Given the description of an element on the screen output the (x, y) to click on. 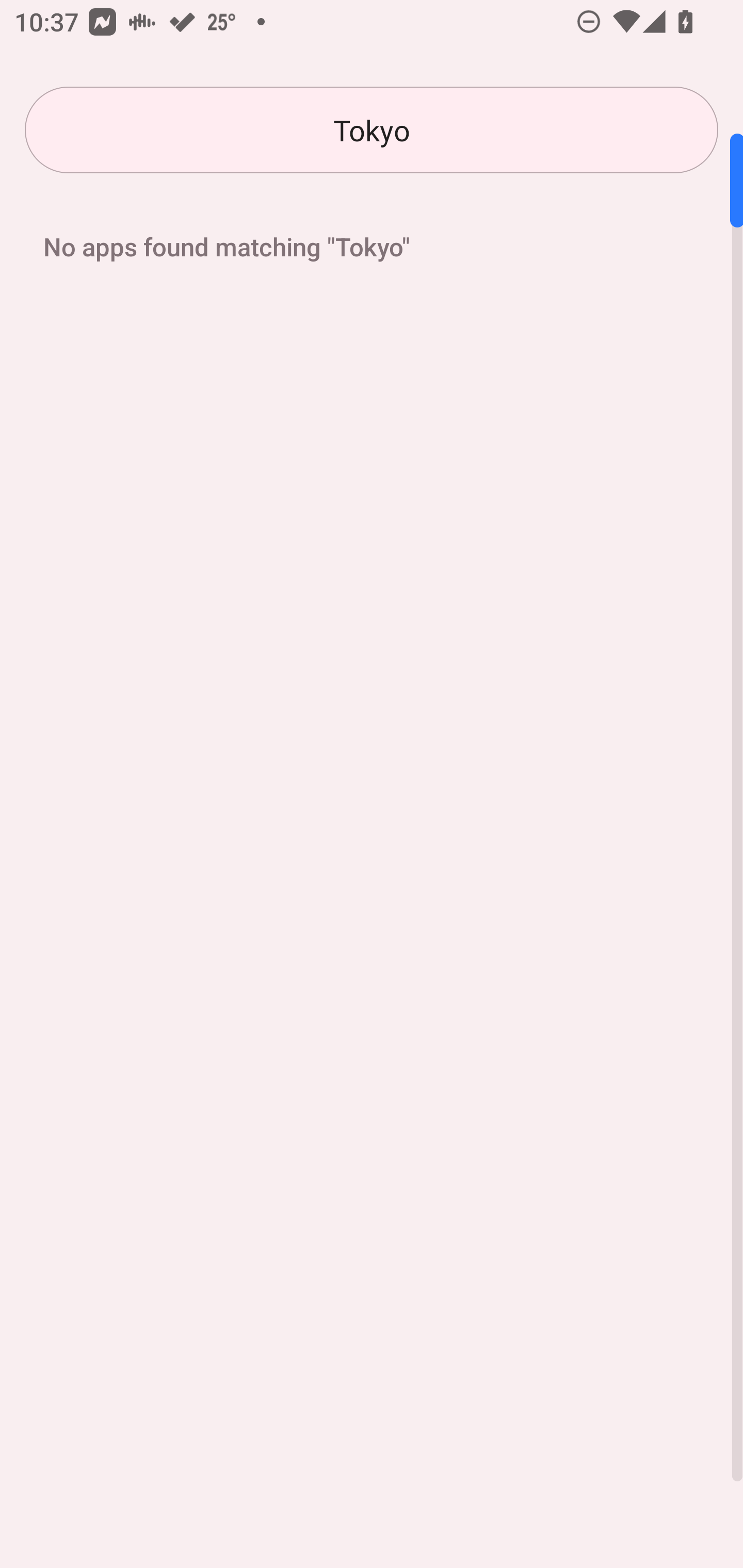
Tokyo (371, 130)
